Given the description of an element on the screen output the (x, y) to click on. 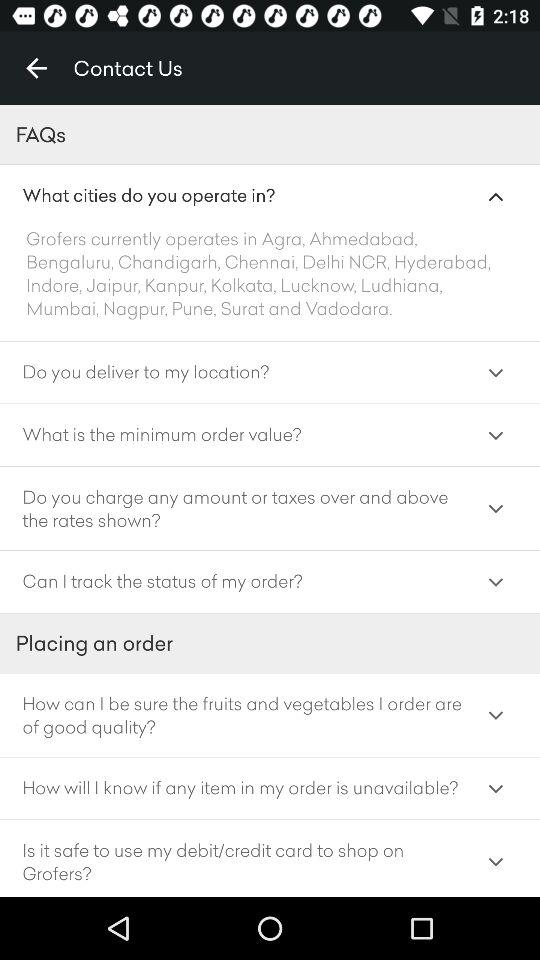
tap item above the faqs (36, 67)
